Given the description of an element on the screen output the (x, y) to click on. 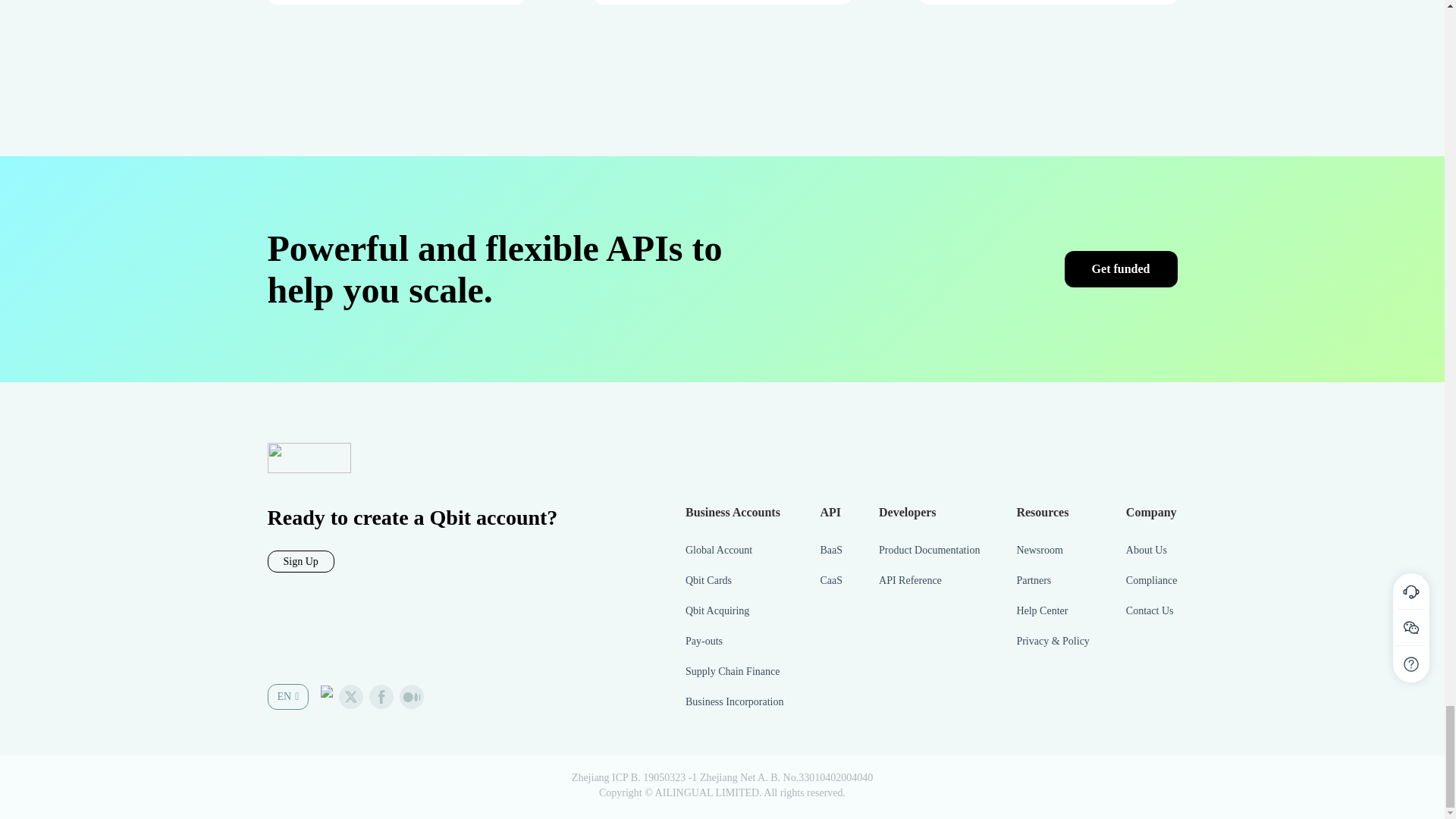
Global Account (734, 549)
Get funded (1120, 268)
Supply Chain Finance (734, 671)
CaaS (831, 580)
About Us (1151, 549)
API Reference (929, 580)
Product Documentation (929, 549)
Qbit Cards (734, 580)
Sign Up (299, 561)
Contact Us (1151, 611)
BaaS (831, 549)
Help Center (1052, 611)
Business Incorporation (734, 702)
Newsroom (1052, 549)
Pay-outs (734, 641)
